Given the description of an element on the screen output the (x, y) to click on. 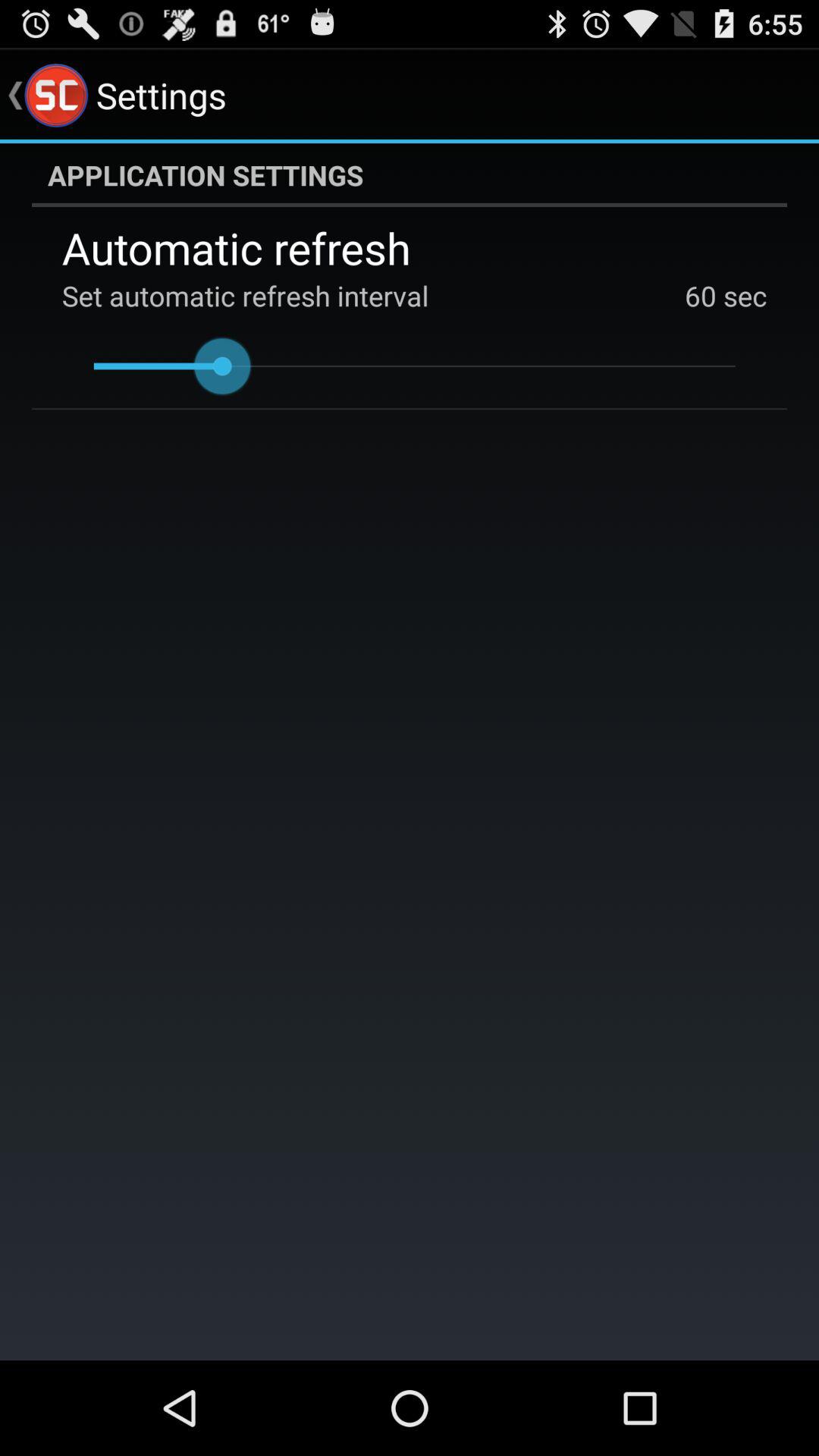
choose the item below set automatic refresh item (414, 366)
